Given the description of an element on the screen output the (x, y) to click on. 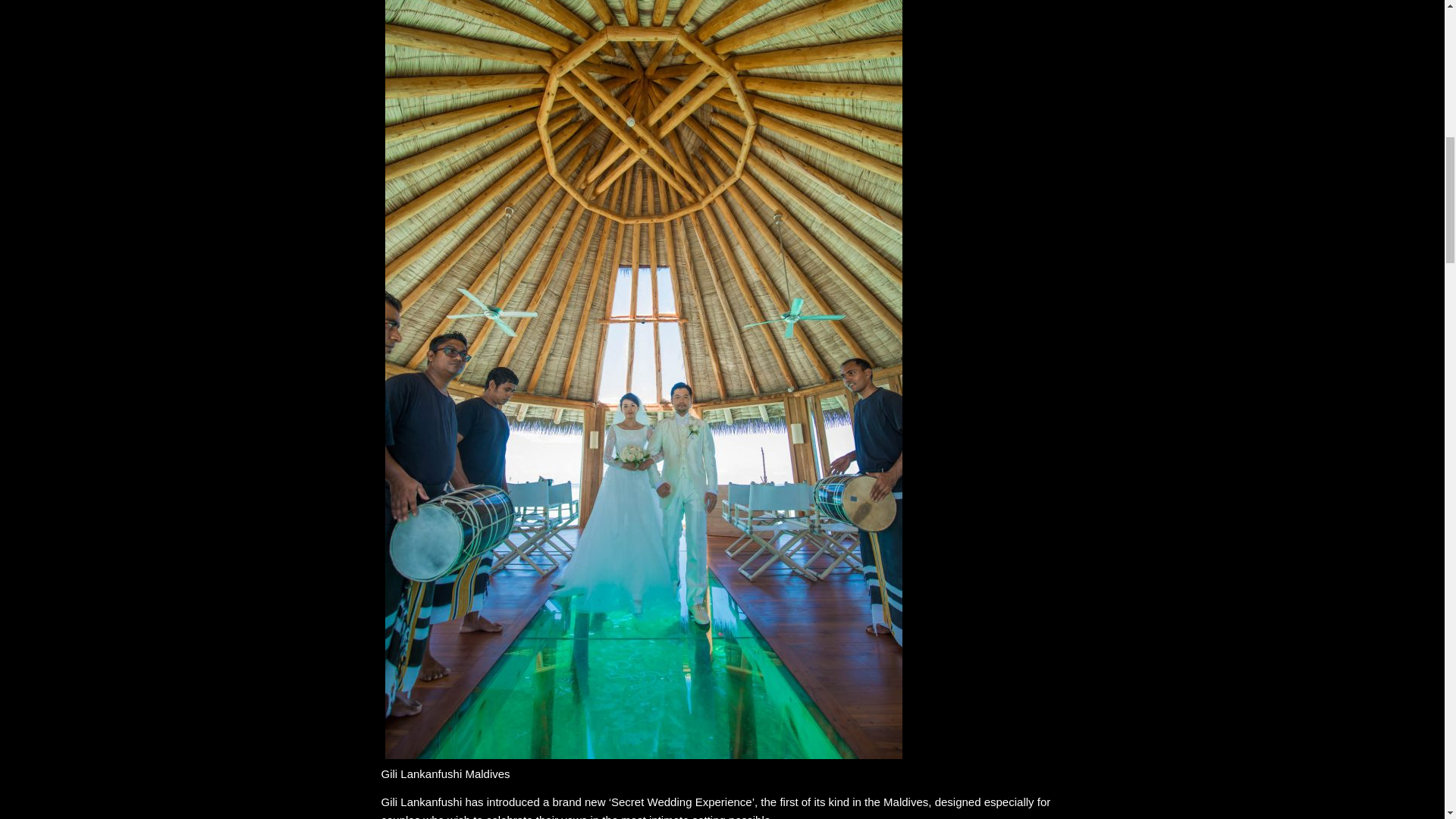
Wedding (670, 801)
